Given the description of an element on the screen output the (x, y) to click on. 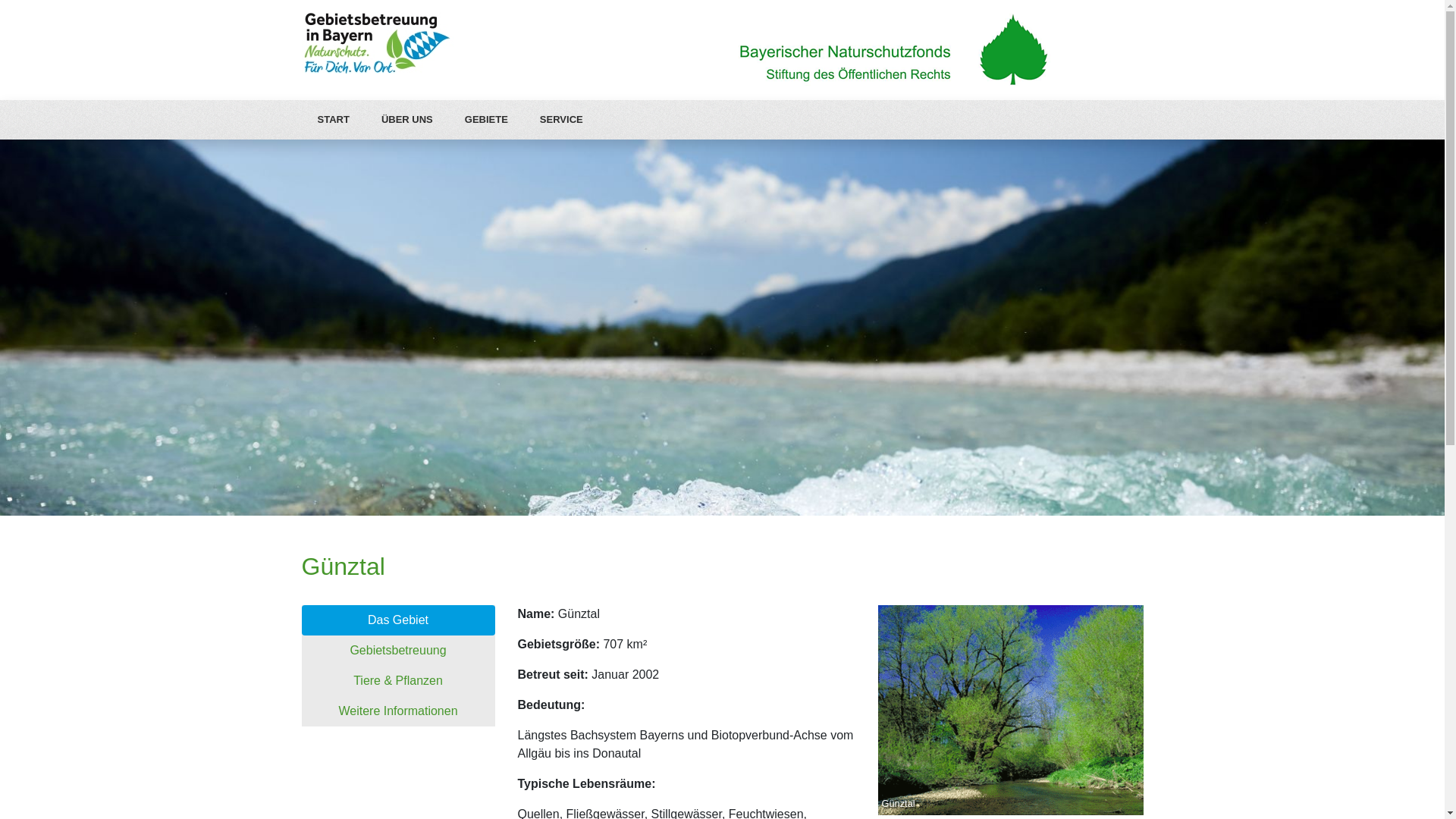
START Element type: text (333, 119)
Das Gebiet Element type: text (398, 620)
Gebietsbetreuung Element type: text (398, 650)
Weitere Informationen Element type: text (398, 711)
  Element type: text (300, 138)
SERVICE Element type: text (561, 119)
Tiere & Pflanzen Element type: text (398, 680)
GEBIETE Element type: text (486, 119)
